Given the description of an element on the screen output the (x, y) to click on. 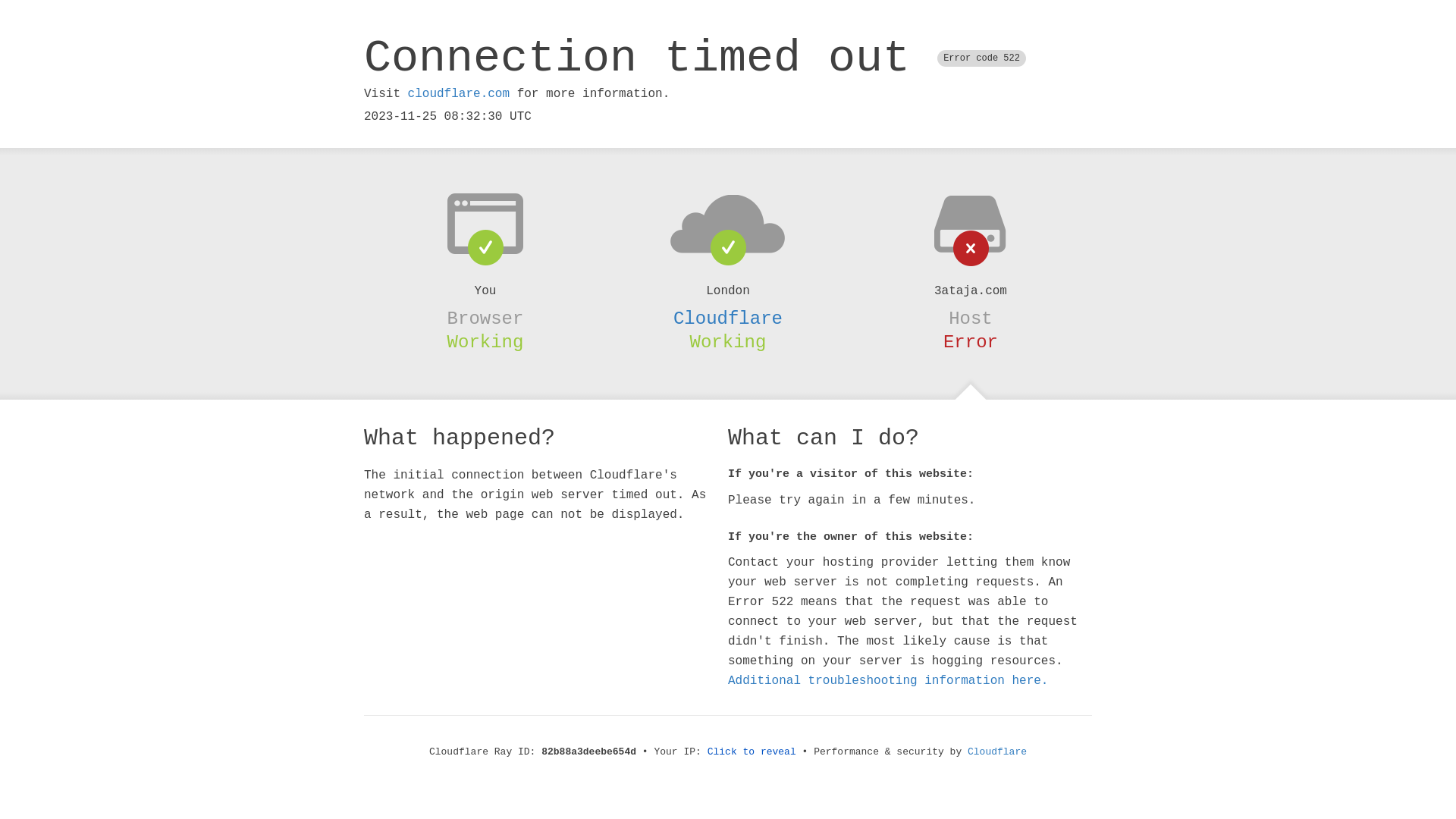
Cloudflare Element type: text (727, 318)
Cloudflare Element type: text (996, 751)
Click to reveal Element type: text (751, 751)
Additional troubleshooting information here. Element type: text (888, 680)
cloudflare.com Element type: text (458, 93)
